Given the description of an element on the screen output the (x, y) to click on. 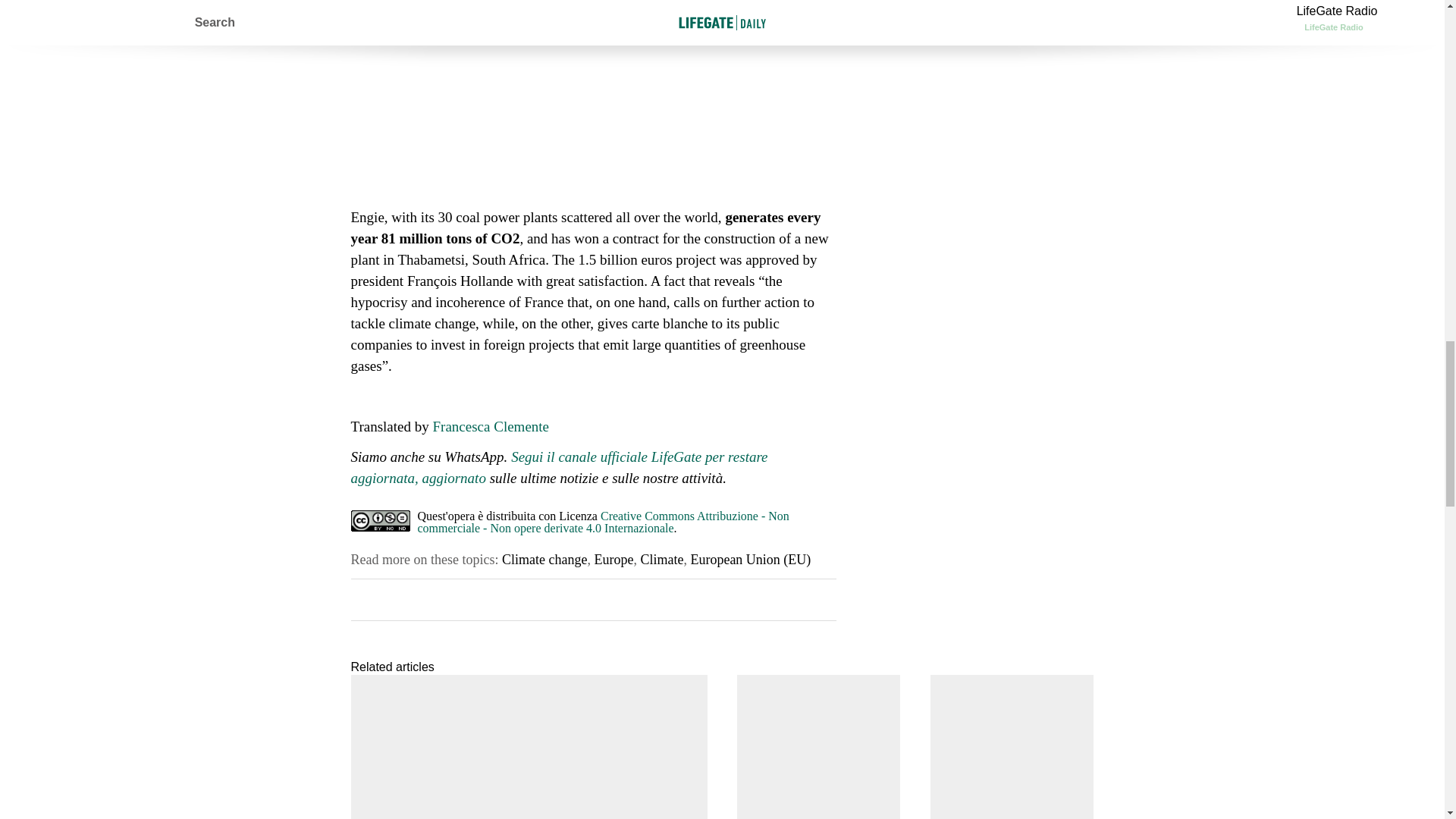
Climate change Tag (544, 559)
Europe Tag (613, 559)
Climate Tag (661, 559)
